Given the description of an element on the screen output the (x, y) to click on. 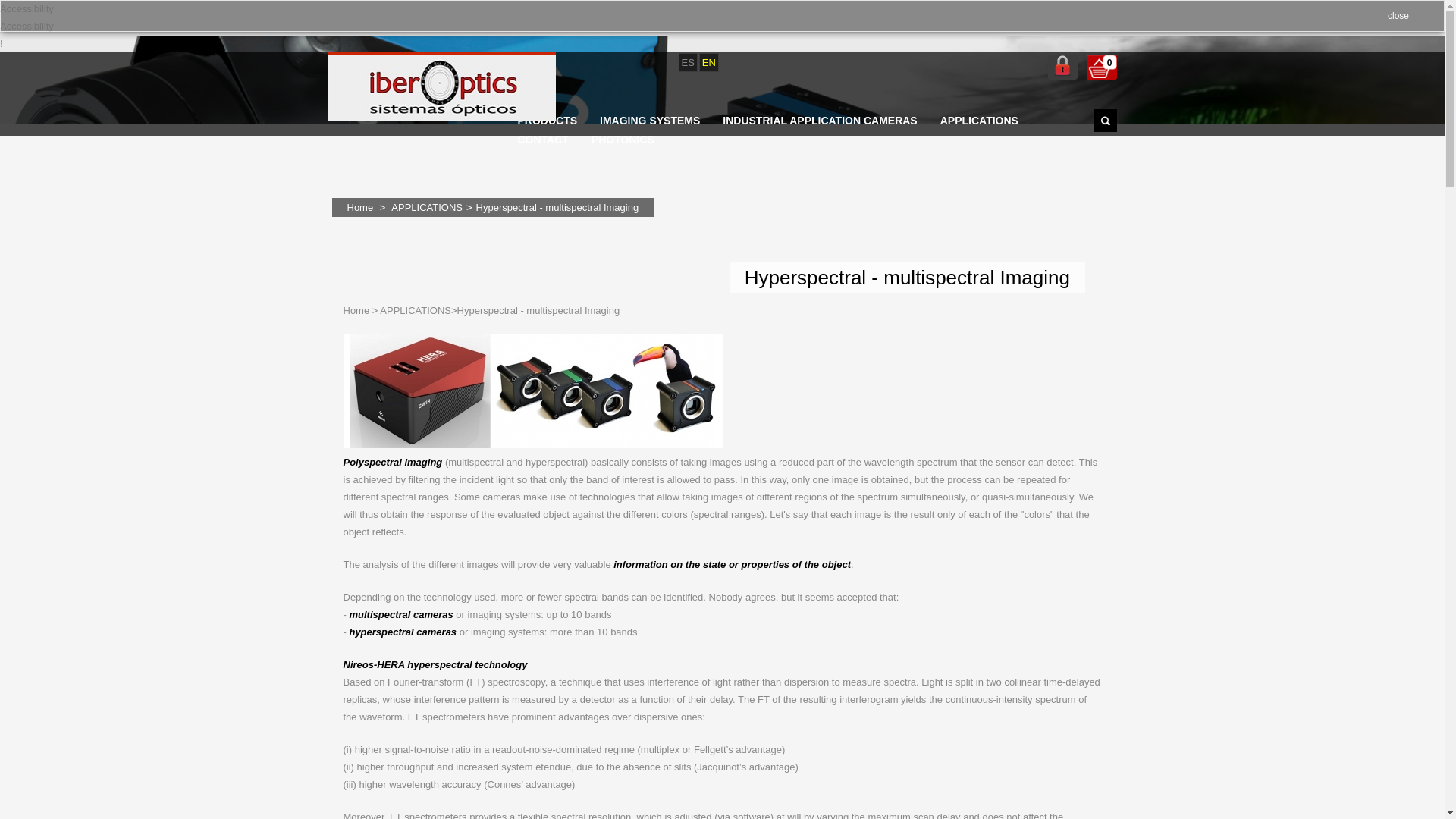
PRODUCTS (546, 120)
PRODUCTS (546, 120)
login (1061, 66)
login (1061, 66)
ES (687, 61)
View my shopping cart (1101, 66)
Iberoptics (440, 89)
0 (1101, 66)
